Given the description of an element on the screen output the (x, y) to click on. 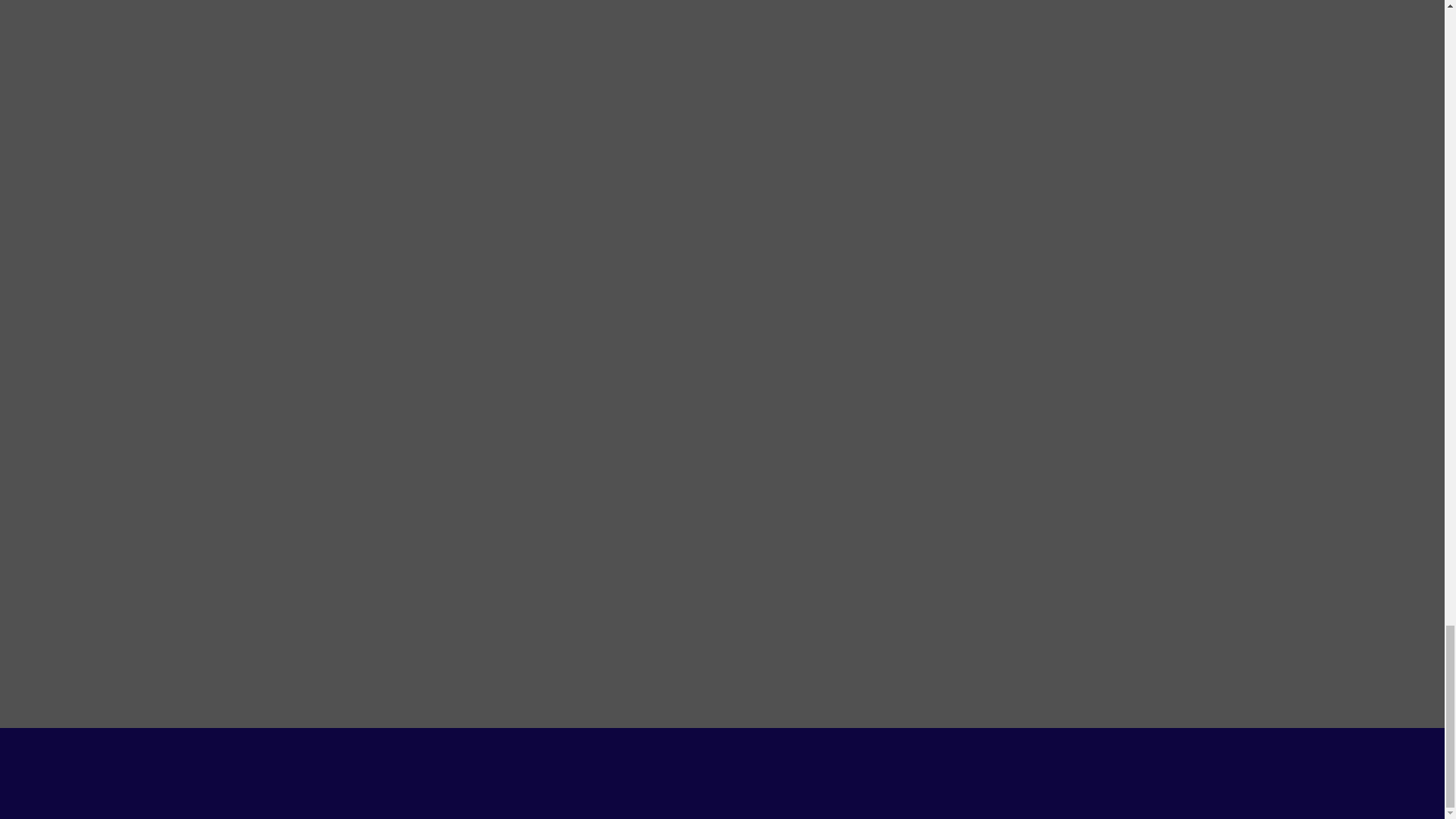
 Submit  (1070, 115)
